Given the description of an element on the screen output the (x, y) to click on. 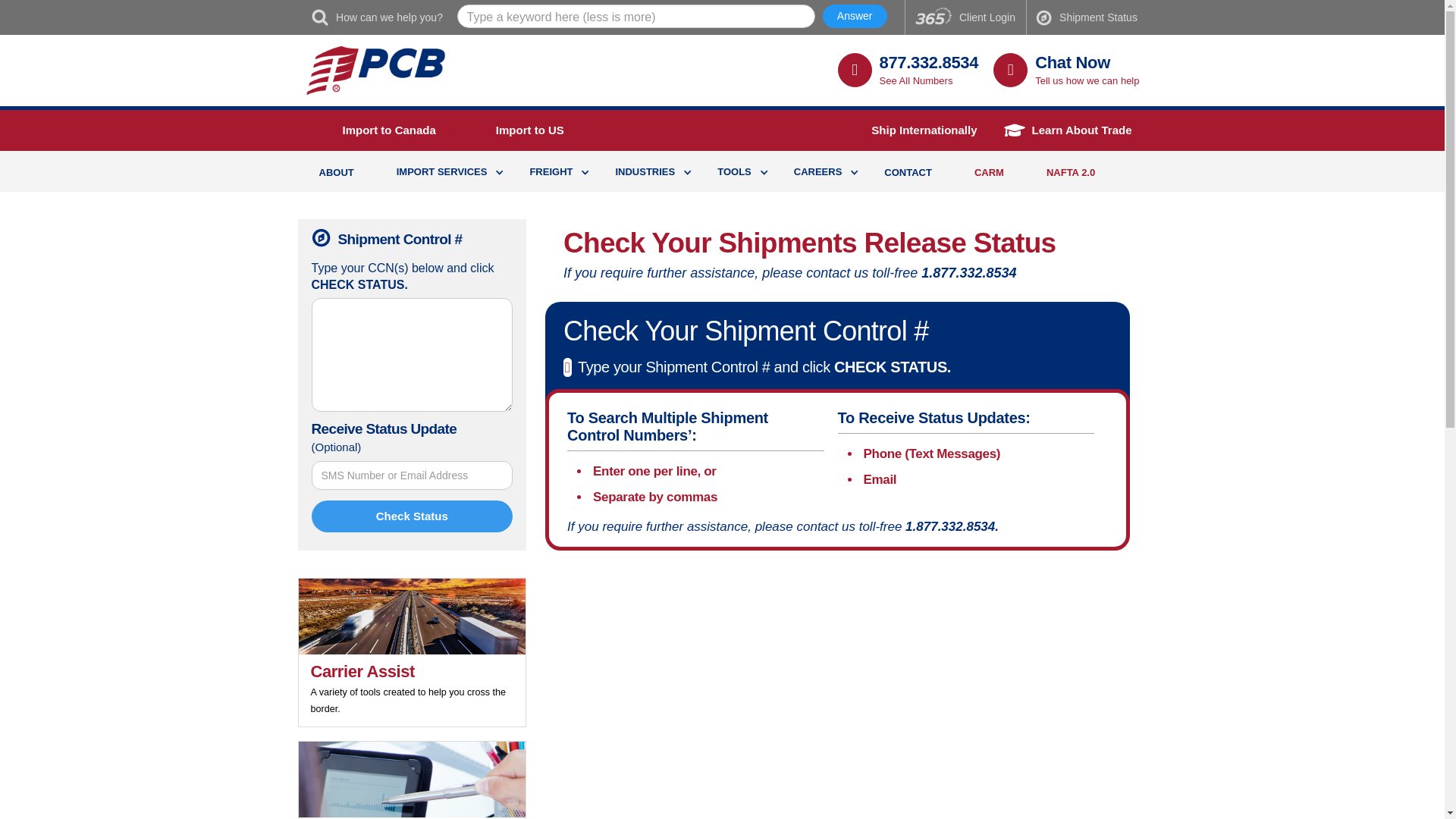
Learn About Trade (1069, 130)
Import to Canada (373, 130)
Answer (854, 15)
877.332.8534 (928, 62)
Tell us how we can help (1086, 80)
Import to US (515, 130)
Answer (854, 15)
ABOUT (335, 172)
Ship Internationally (911, 130)
See All Numbers (916, 80)
